Given the description of an element on the screen output the (x, y) to click on. 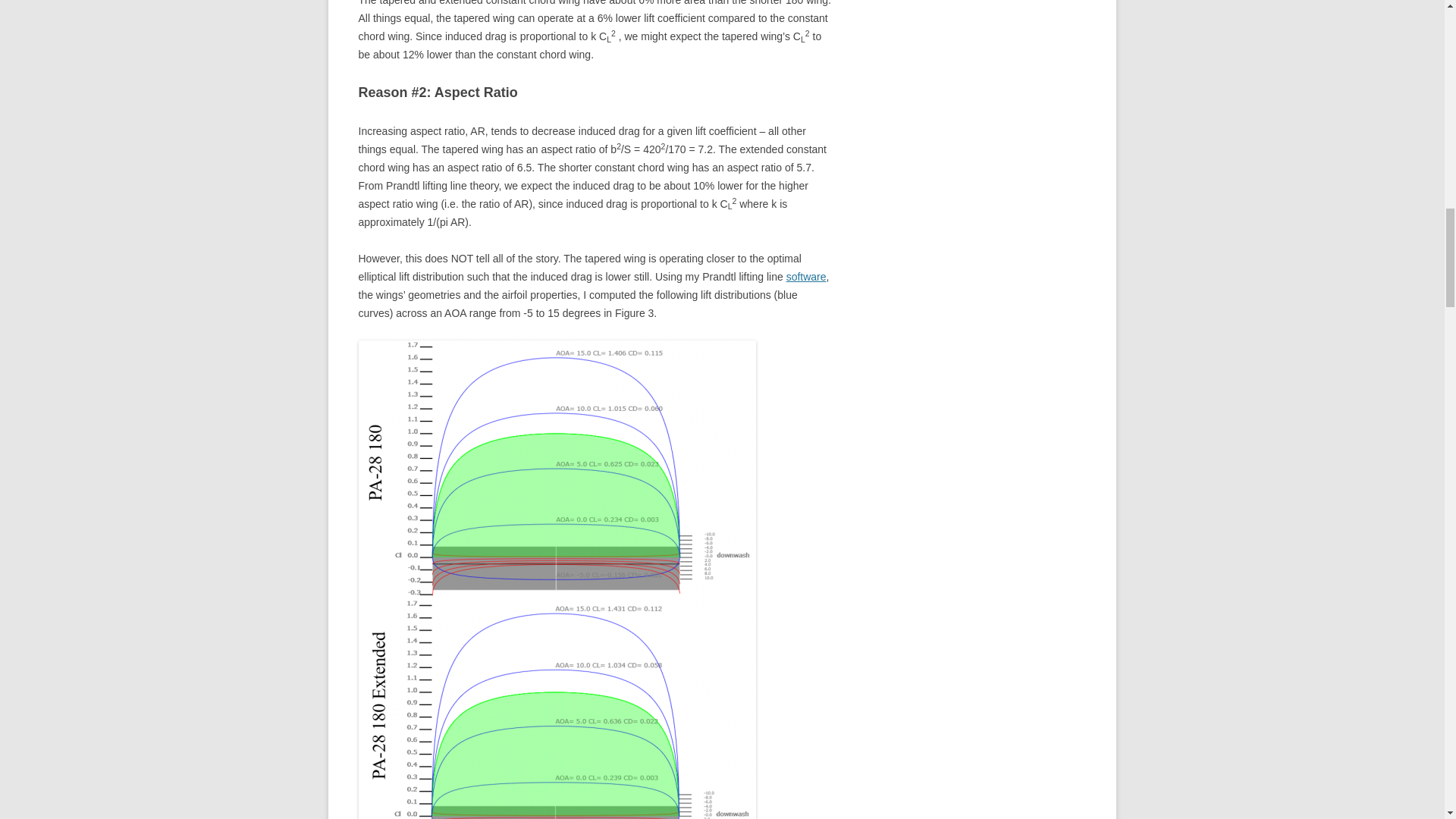
software (806, 276)
